Given the description of an element on the screen output the (x, y) to click on. 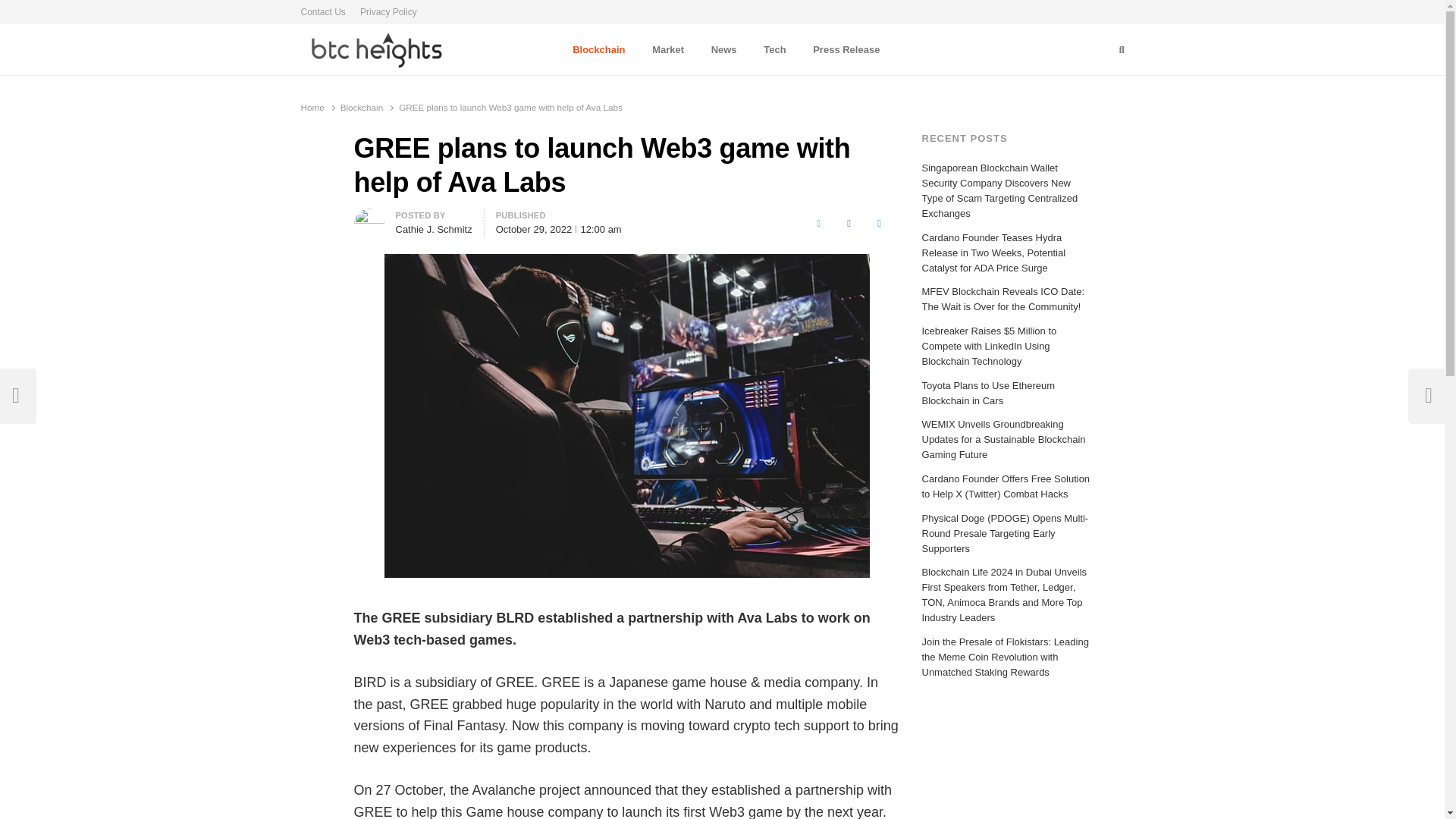
Press Release (845, 49)
Share on facebook (849, 223)
Share on LinkedIn (879, 223)
More posts by Cathie J. Schmitz (368, 216)
Cathie J. Schmitz (433, 229)
Blockchain (598, 49)
Privacy Policy (388, 12)
News (723, 49)
Facebook (849, 223)
Market (667, 49)
